Given the description of an element on the screen output the (x, y) to click on. 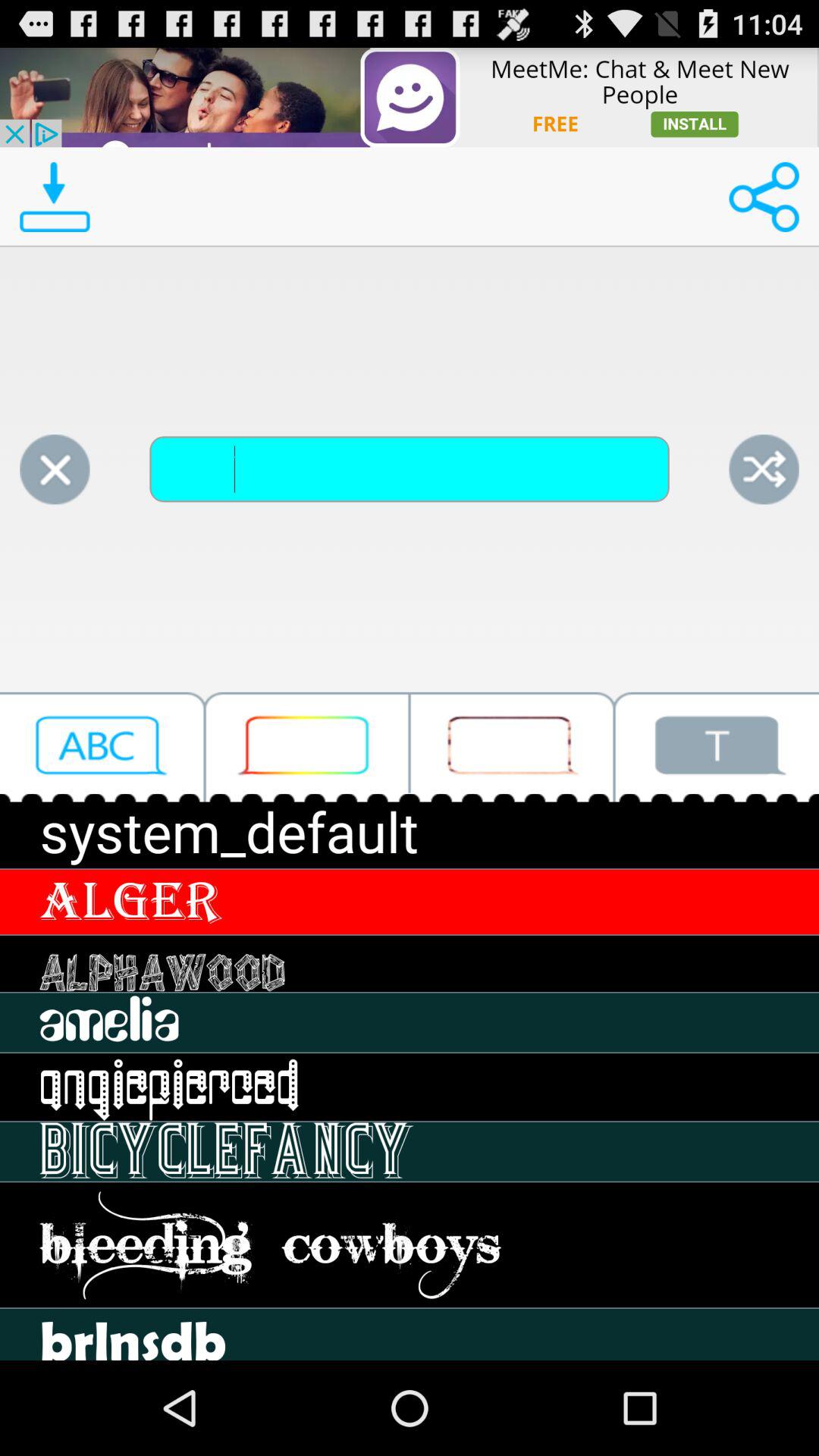
share the page (764, 469)
